Given the description of an element on the screen output the (x, y) to click on. 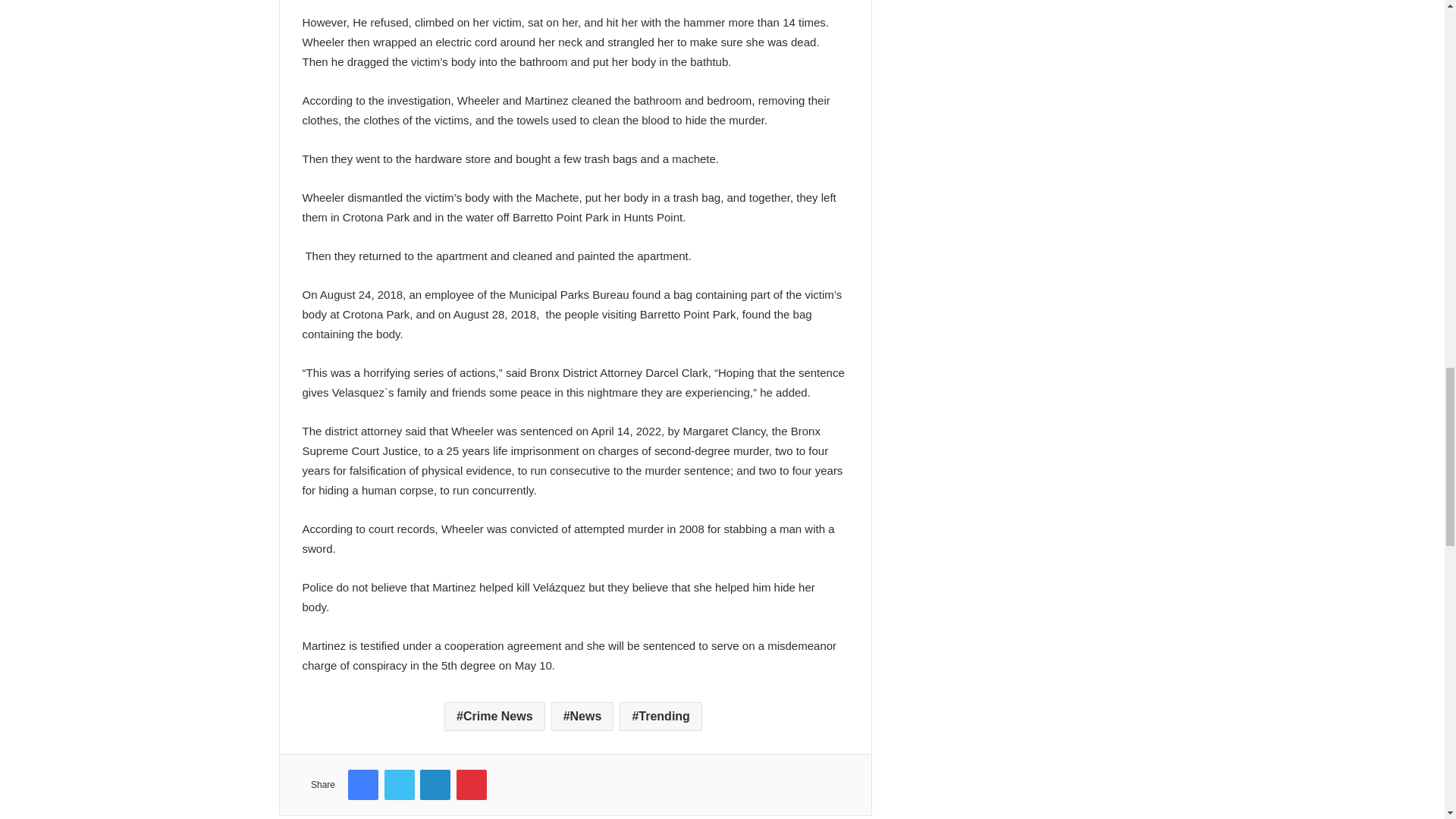
Twitter (399, 784)
Twitter (399, 784)
LinkedIn (434, 784)
Trending (660, 716)
News (582, 716)
Facebook (362, 784)
Facebook (362, 784)
Crime News (494, 716)
Pinterest (471, 784)
